Given the description of an element on the screen output the (x, y) to click on. 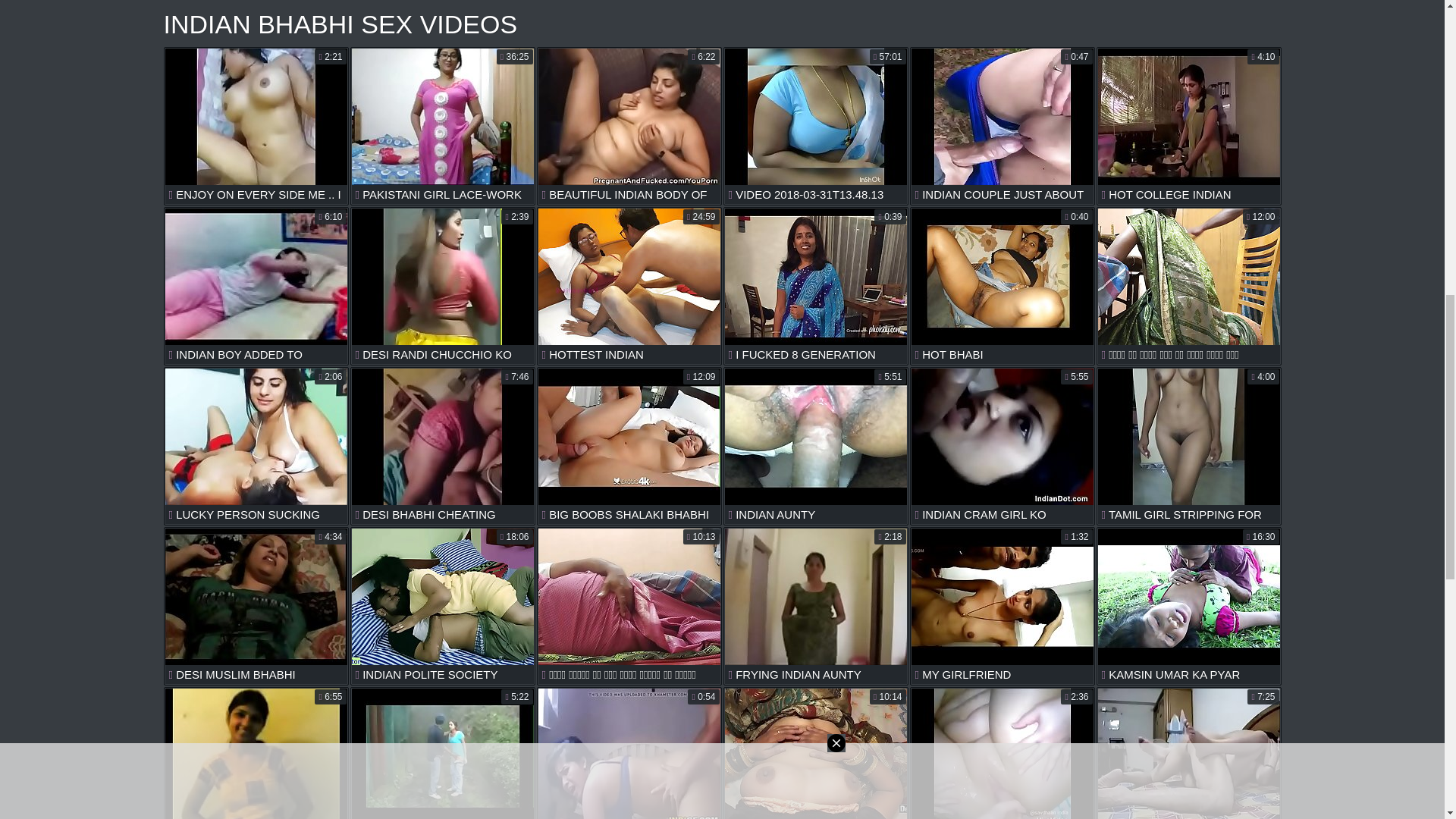
GURU BHABHI KE SAAT (1188, 753)
INDIAN AUNTY MATING (629, 753)
TAMIL GIRL STRIPPING FOR FUN (1188, 445)
VIDEO 2018-03-31T13.48.13 (815, 125)
I FUCKED 8 GENERATION THIS SEXY GEETHA (815, 286)
BIG BOOBS SHALAKI BHABHI BE THRILLED BY (629, 445)
INDIAN COUPLE JUST ABOUT CAR PARK (1002, 125)
BEAUTIFUL INDIAN BODY OF MEN BELATEDLY ORATORICAL FUCKED (629, 125)
INDIAN AUNTY (815, 445)
LUCKY PERSON SUCKING OLD HAT MODERN BOOBS (256, 445)
HOT BHABI (1002, 286)
INDIAN COUPLE FIANC? IN THE PURL (442, 753)
DESI RANDI CHUCCHIO KO DIKHATAY HUAY (442, 286)
